Given the description of an element on the screen output the (x, y) to click on. 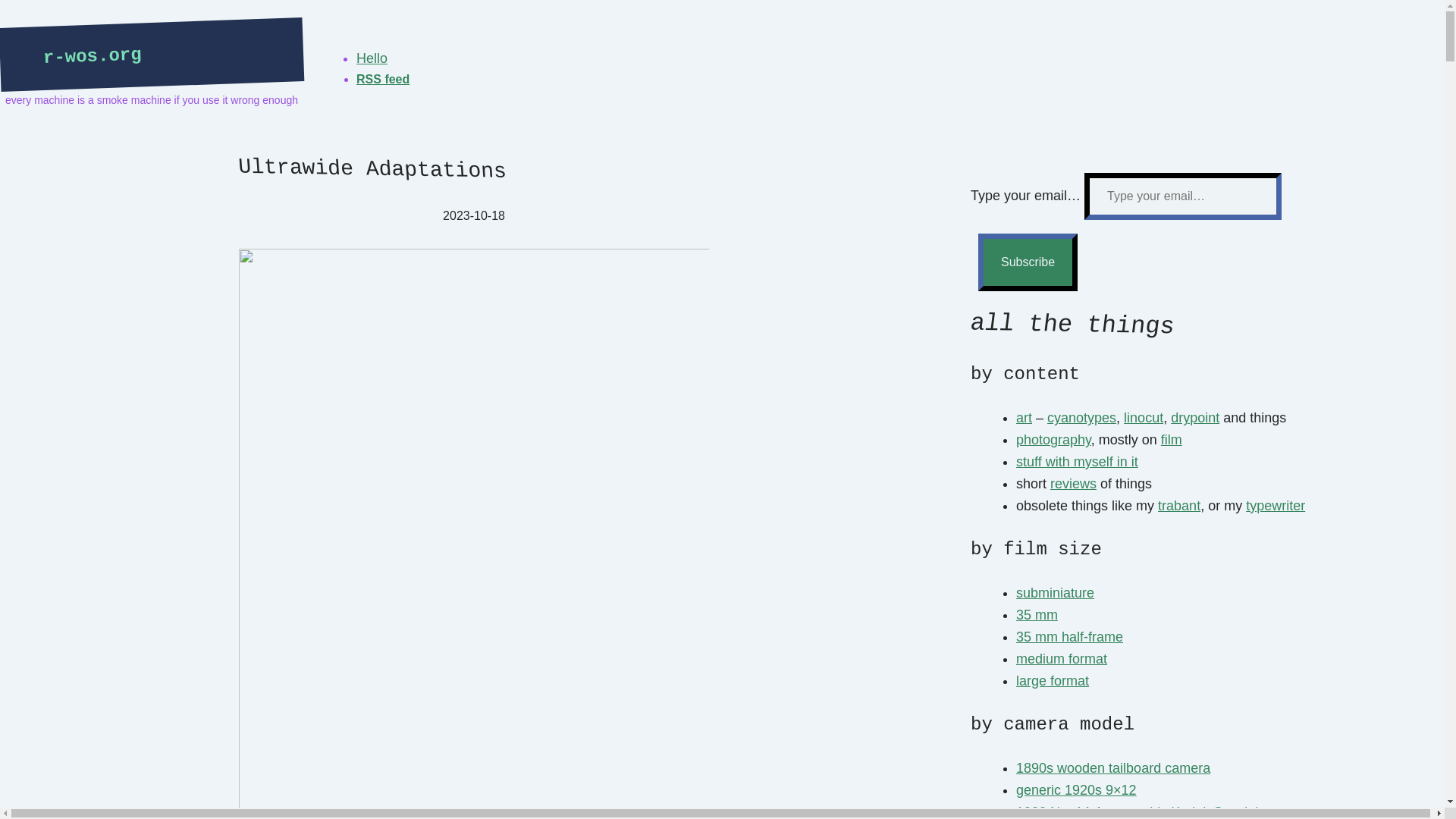
RSS feed (382, 78)
large format (1052, 680)
Hello (371, 58)
35 mm half-frame (1069, 636)
photography (1053, 439)
1920 No. 1A Autographic Kodak Special (1136, 811)
Subscribe (1027, 262)
trabant (1178, 505)
35 mm (1037, 614)
cyanotypes (1081, 417)
